Given the description of an element on the screen output the (x, y) to click on. 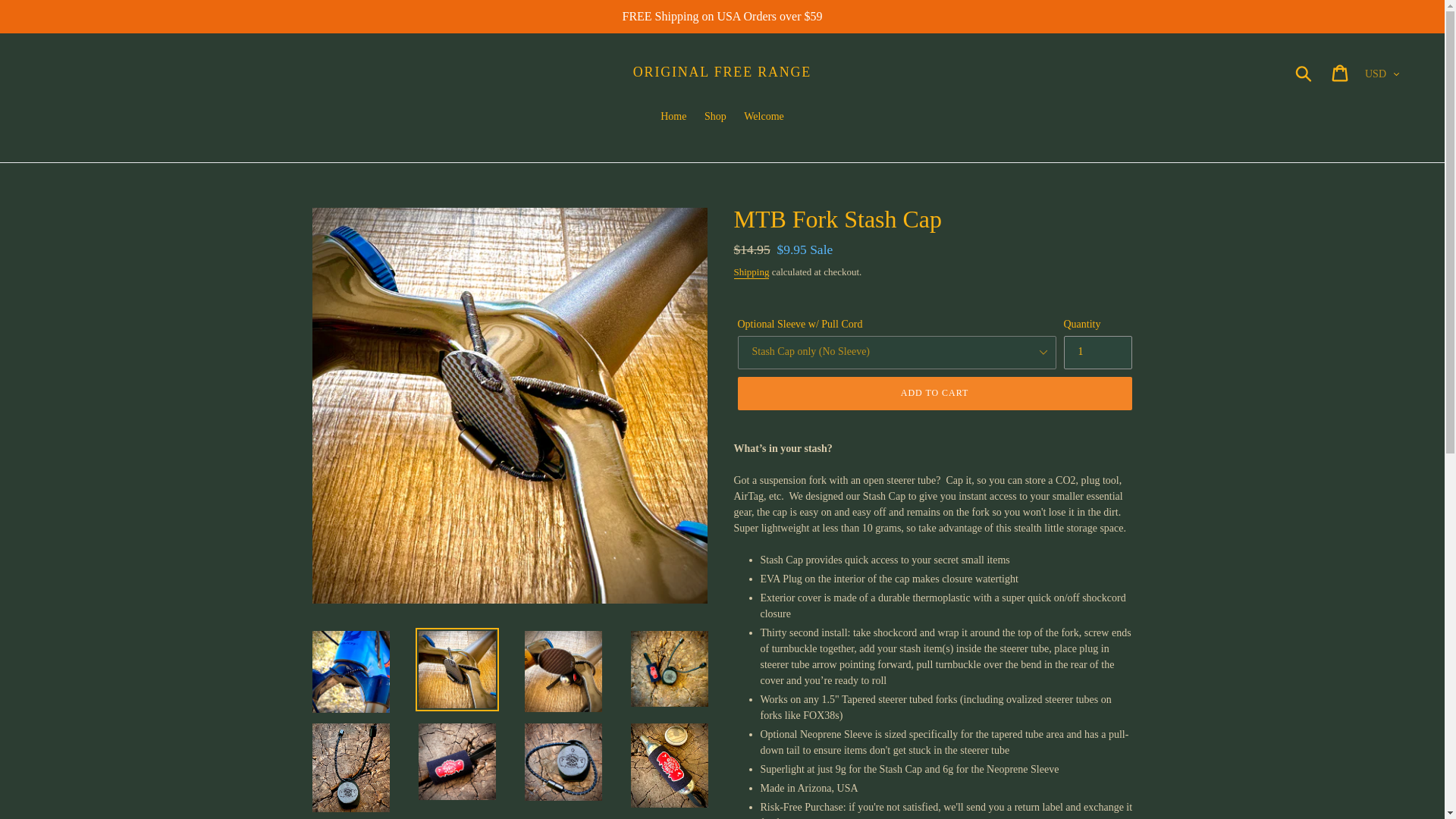
Shipping (751, 272)
1 (1096, 352)
Shop (715, 117)
Home (673, 117)
Submit (1304, 72)
Welcome (764, 117)
Cart (1340, 72)
ADD TO CART (933, 393)
ORIGINAL FREE RANGE (721, 72)
